Given the description of an element on the screen output the (x, y) to click on. 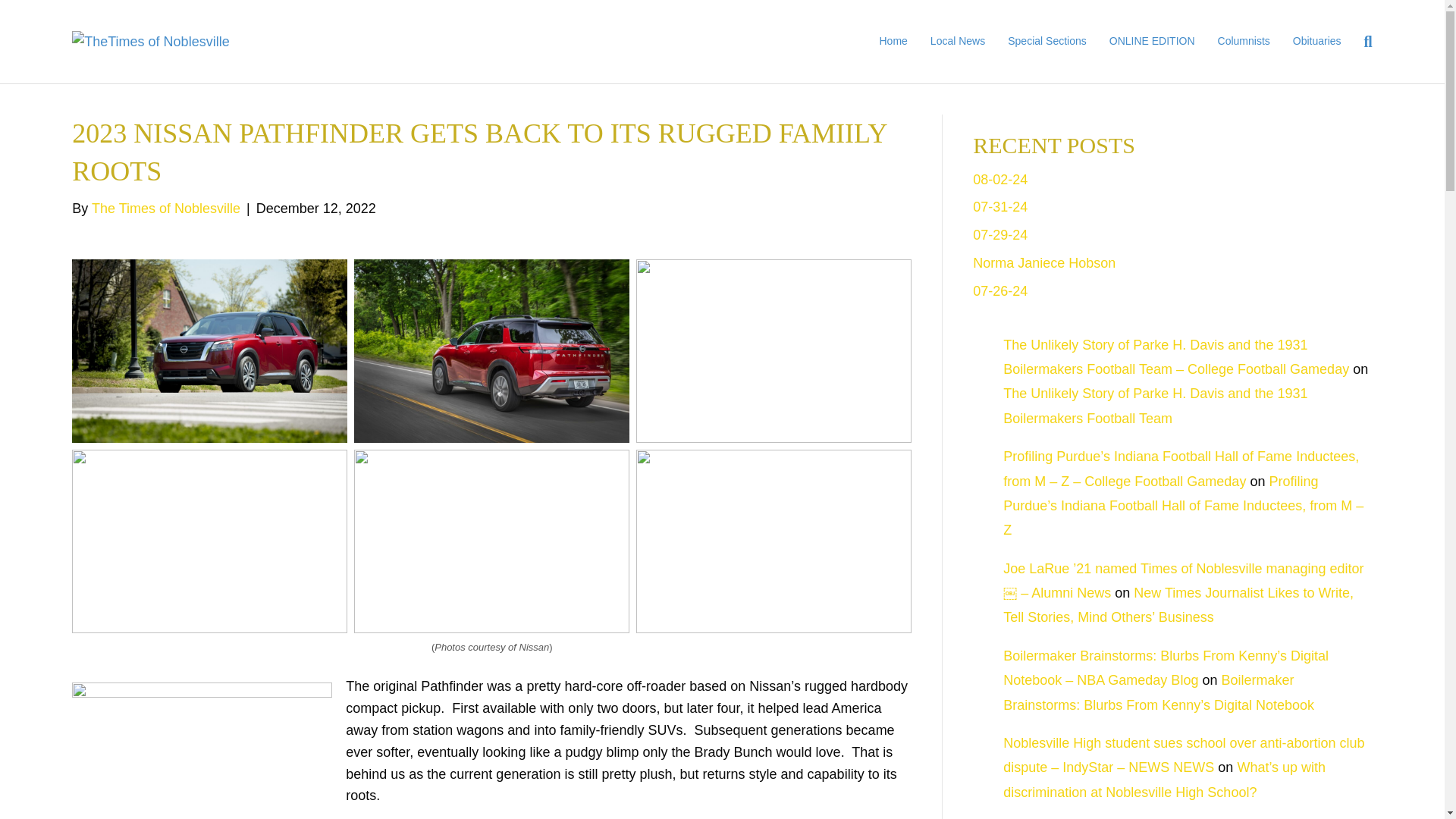
Home (892, 41)
Special Sections (1046, 41)
ONLINE EDITION (1152, 41)
Obituaries (1316, 41)
Columnists (1244, 41)
Local News (956, 41)
